Given the description of an element on the screen output the (x, y) to click on. 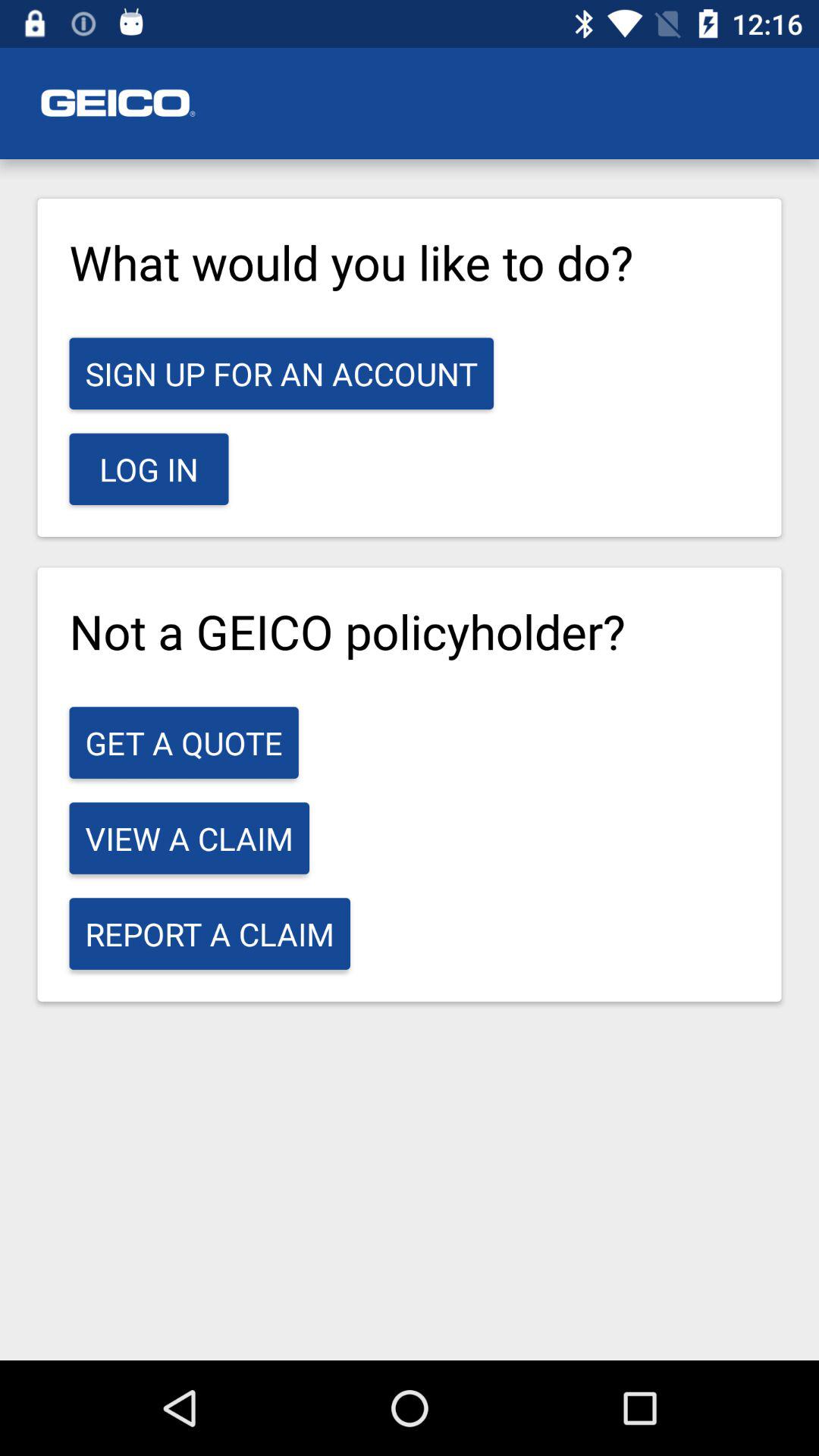
click the item above log in (281, 373)
